Given the description of an element on the screen output the (x, y) to click on. 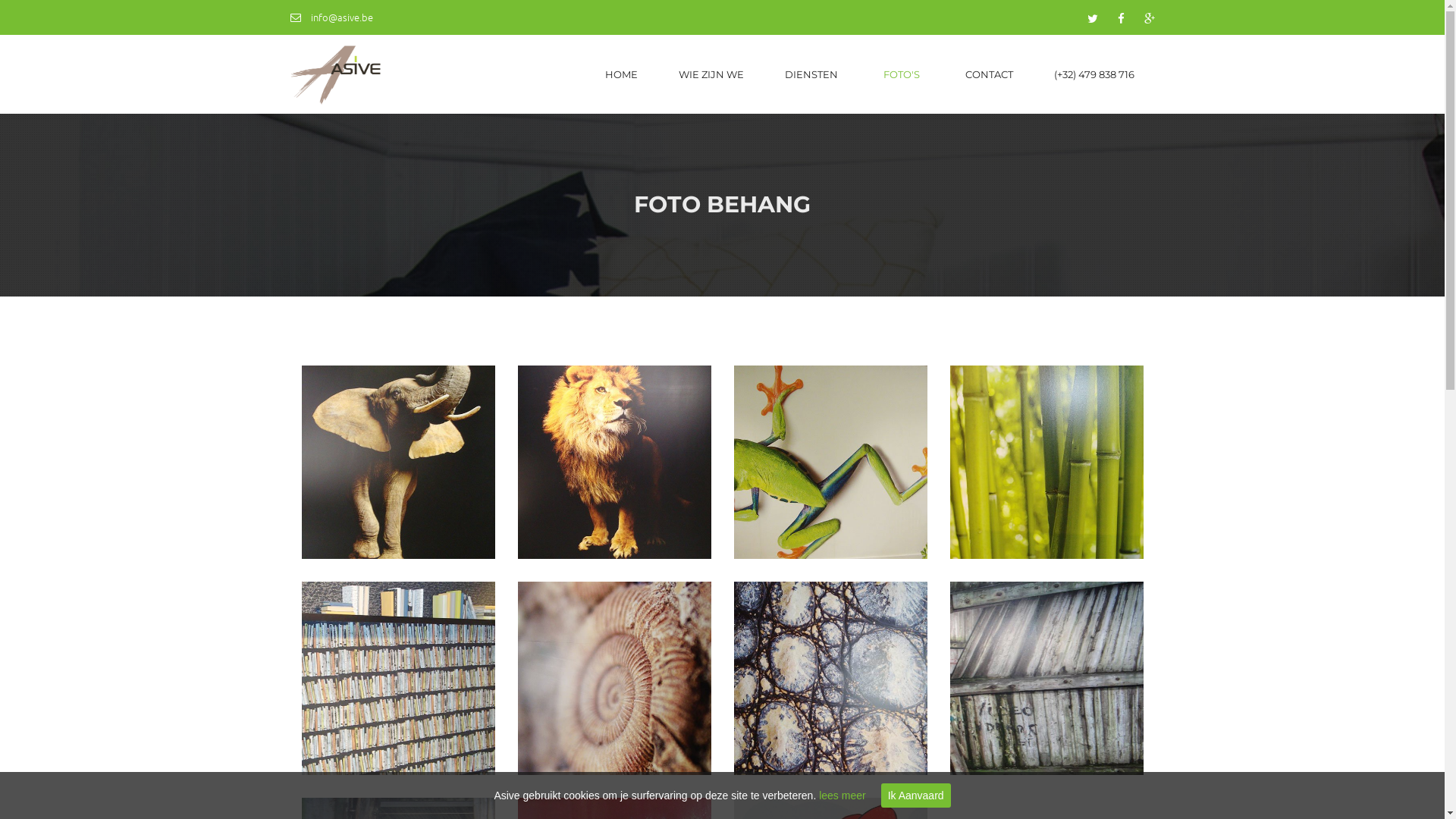
HOME Element type: text (620, 73)
FOTO'S Element type: text (903, 73)
WIE ZIJN WE Element type: text (711, 73)
ASIVE bvba Element type: hover (334, 73)
DIENSTEN Element type: text (813, 73)
CONTACT Element type: text (988, 73)
Ik Aanvaard Element type: text (915, 795)
lees meer Element type: text (842, 795)
(+32) 479 838 716 Element type: text (1093, 73)
